Given the description of an element on the screen output the (x, y) to click on. 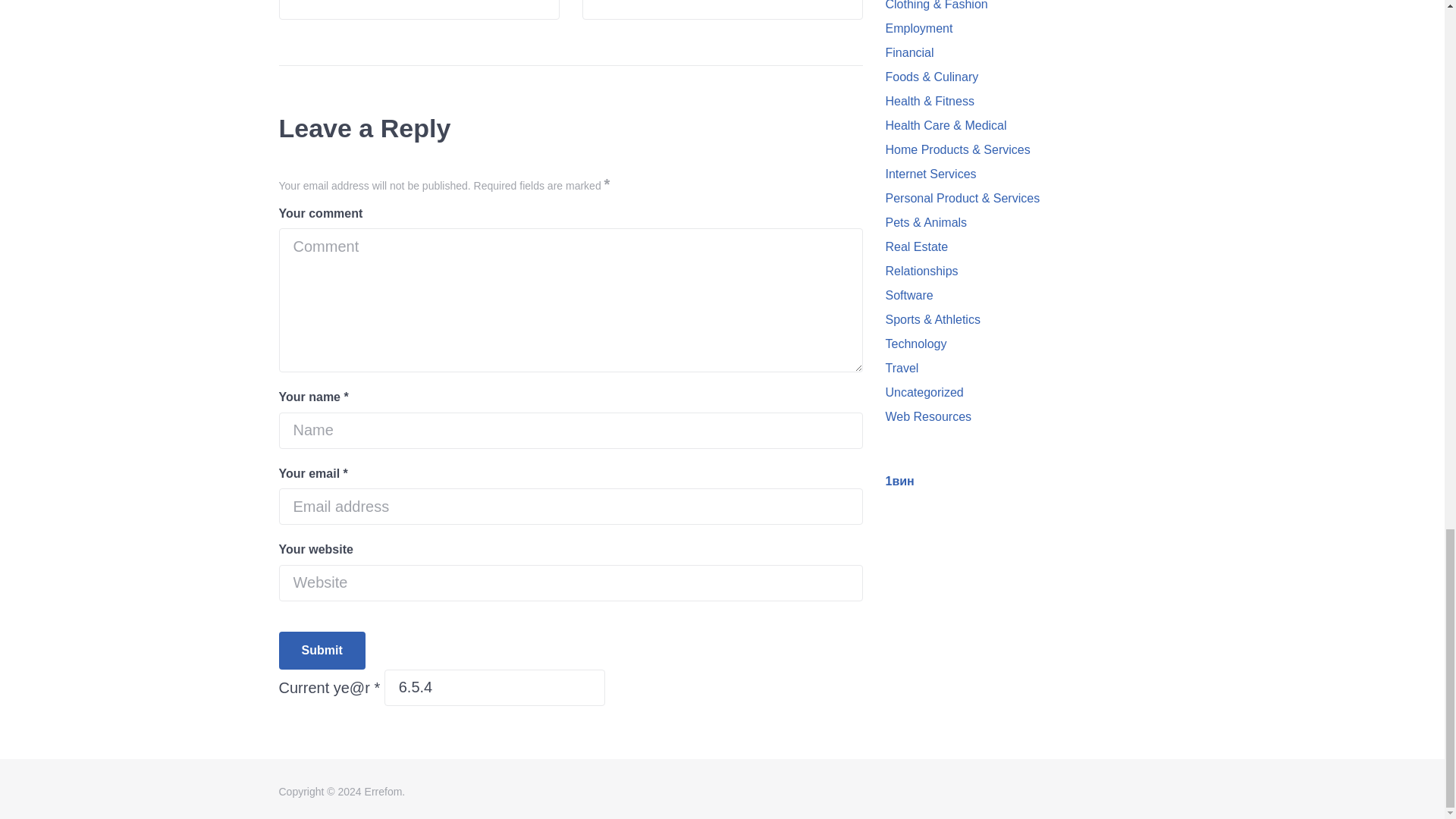
6.5.4 (494, 687)
Submit (722, 10)
Submit (322, 650)
